Given the description of an element on the screen output the (x, y) to click on. 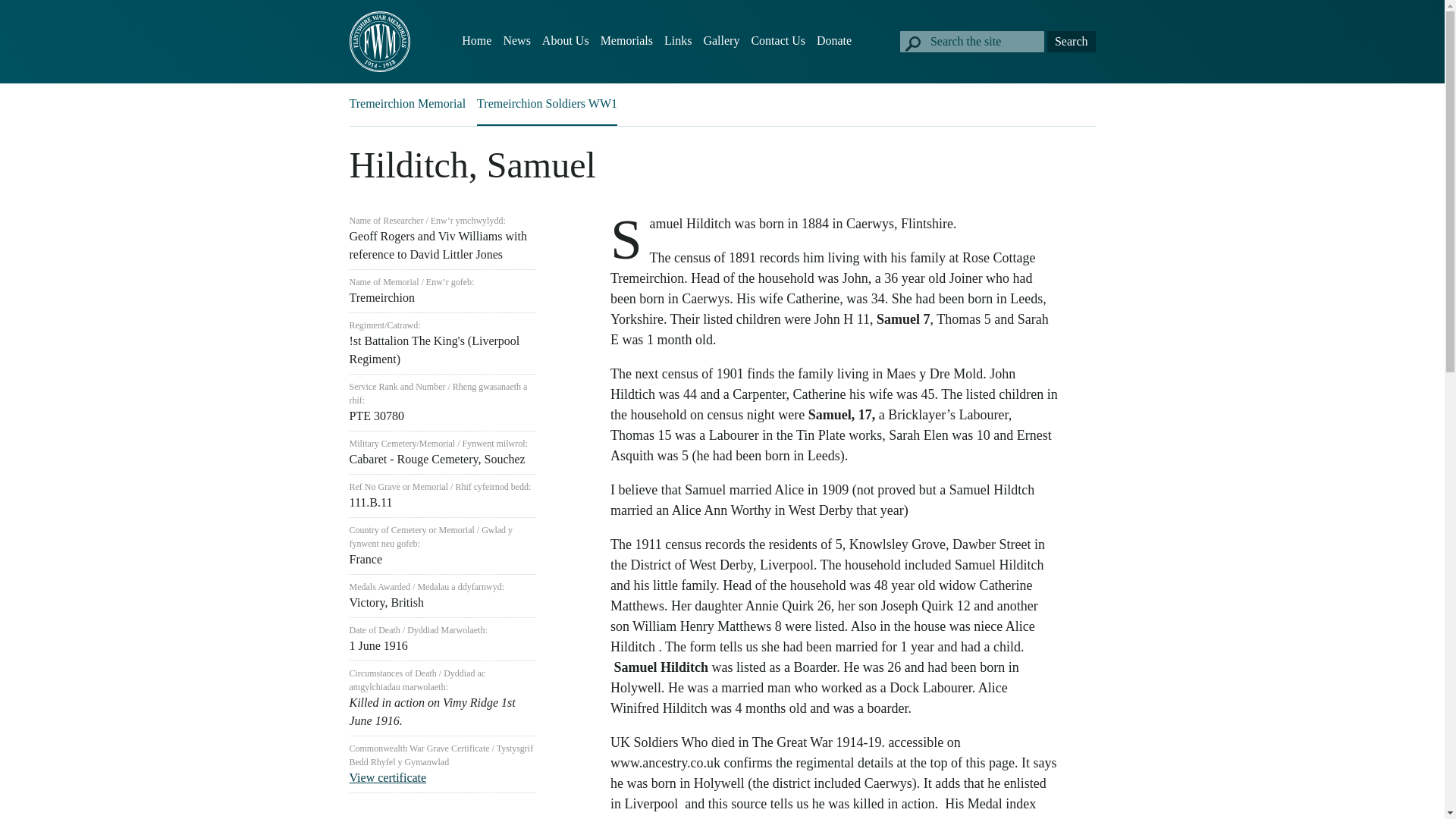
Memorials (625, 41)
News (515, 41)
View certificate (387, 777)
Tremeirchion Memorial (407, 103)
Tremeirchion Soldiers WW1 (547, 103)
Donate (833, 41)
Home (476, 41)
Gallery (721, 41)
Search (1071, 41)
Contact Us (778, 41)
